Given the description of an element on the screen output the (x, y) to click on. 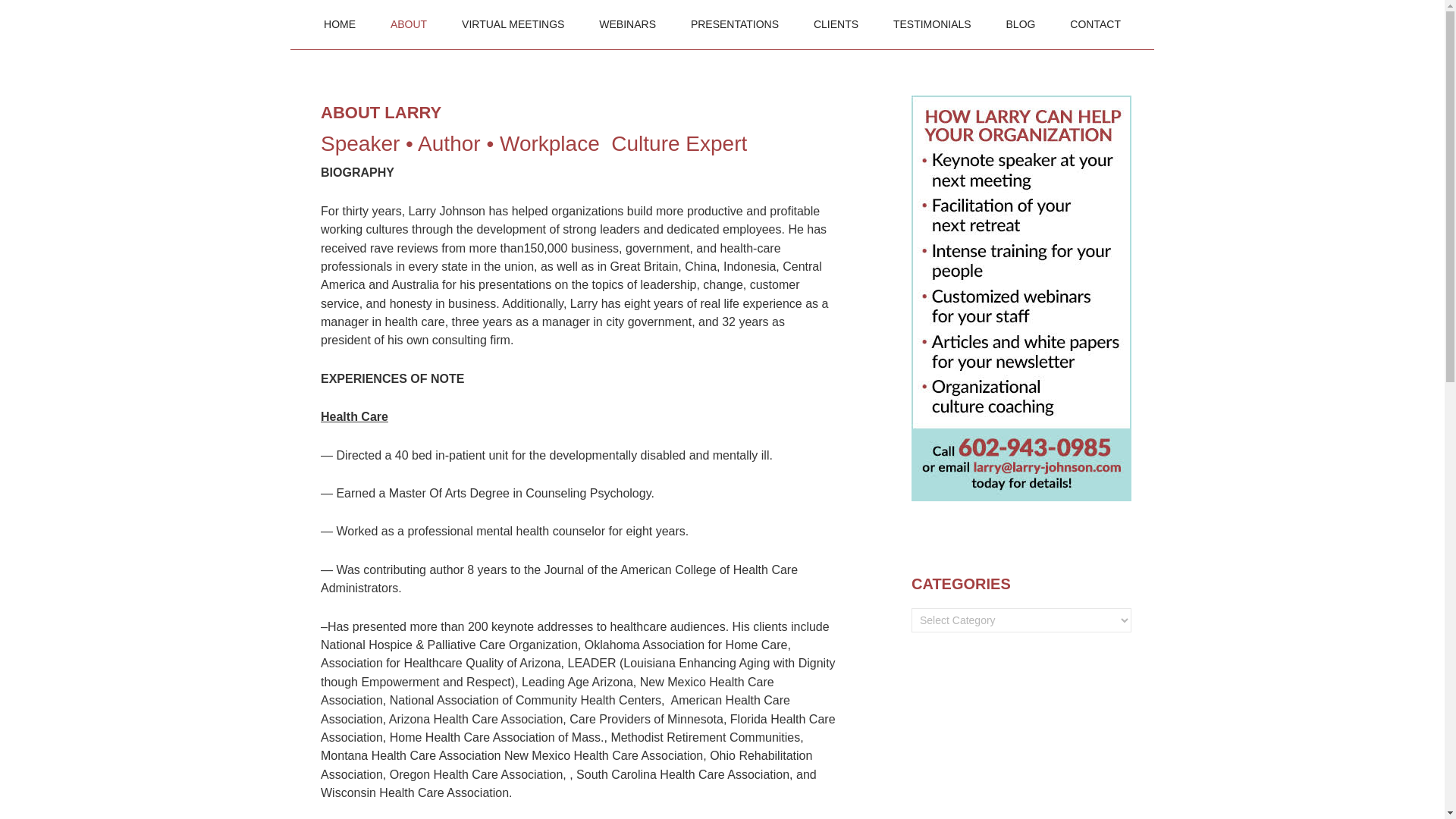
ABOUT (408, 24)
CLIENTS (836, 24)
VIRTUAL MEETINGS (512, 24)
WEBINARS (627, 24)
HOME (339, 24)
TESTIMONIALS (932, 24)
PRESENTATIONS (734, 24)
BLOG (1020, 24)
CONTACT (1095, 24)
LARRY JOHNSON (429, 31)
